Given the description of an element on the screen output the (x, y) to click on. 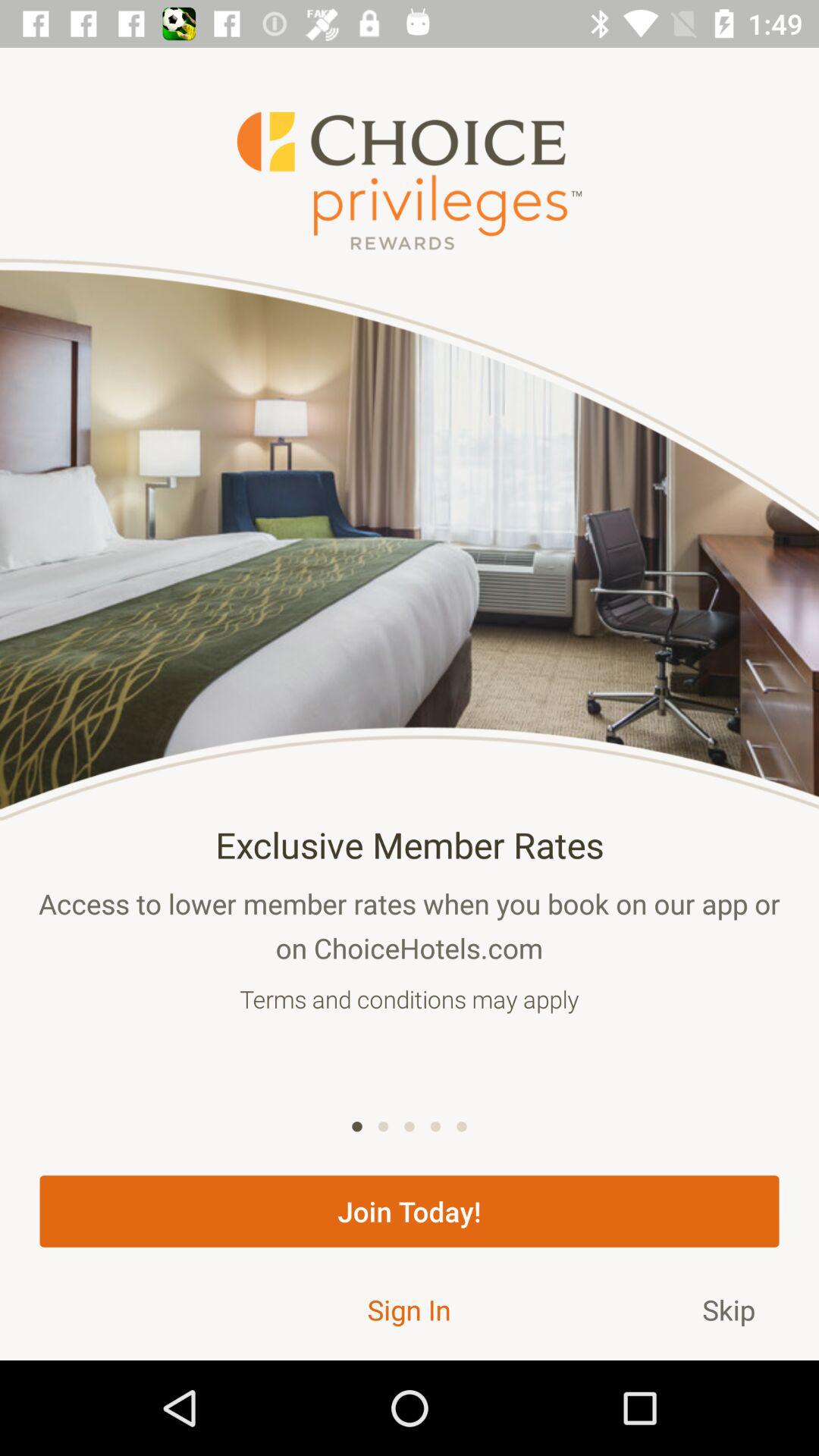
swipe until the sign in item (408, 1309)
